Given the description of an element on the screen output the (x, y) to click on. 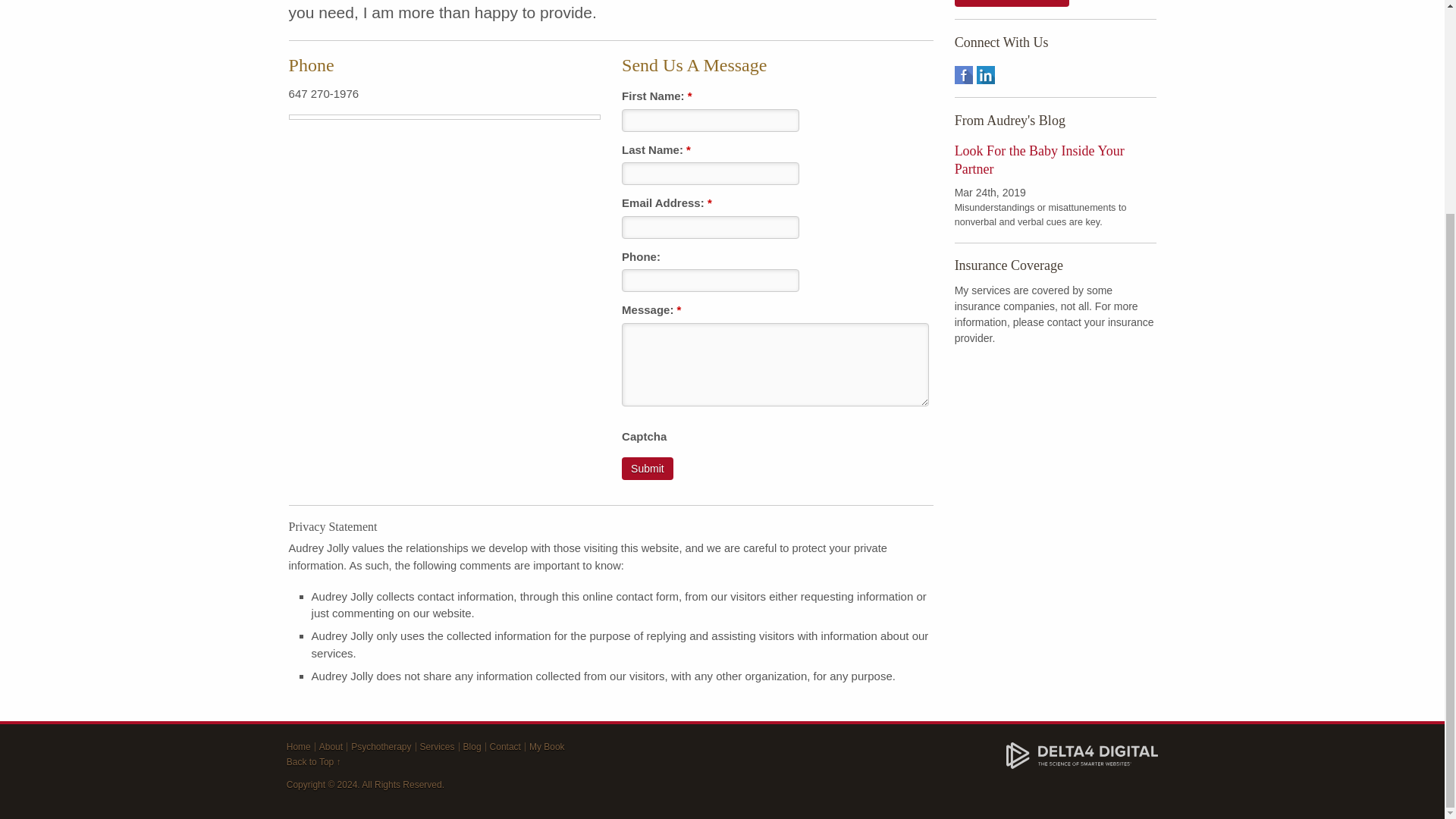
Contact (505, 747)
Submit (646, 468)
Home (298, 747)
Contact Audrey Jolly (1012, 3)
Submit (646, 468)
Blog (472, 747)
Psychotherapy (380, 747)
Look For the Baby Inside Your Partner (1039, 159)
Services (437, 747)
My Book (546, 747)
About (330, 747)
